Given the description of an element on the screen output the (x, y) to click on. 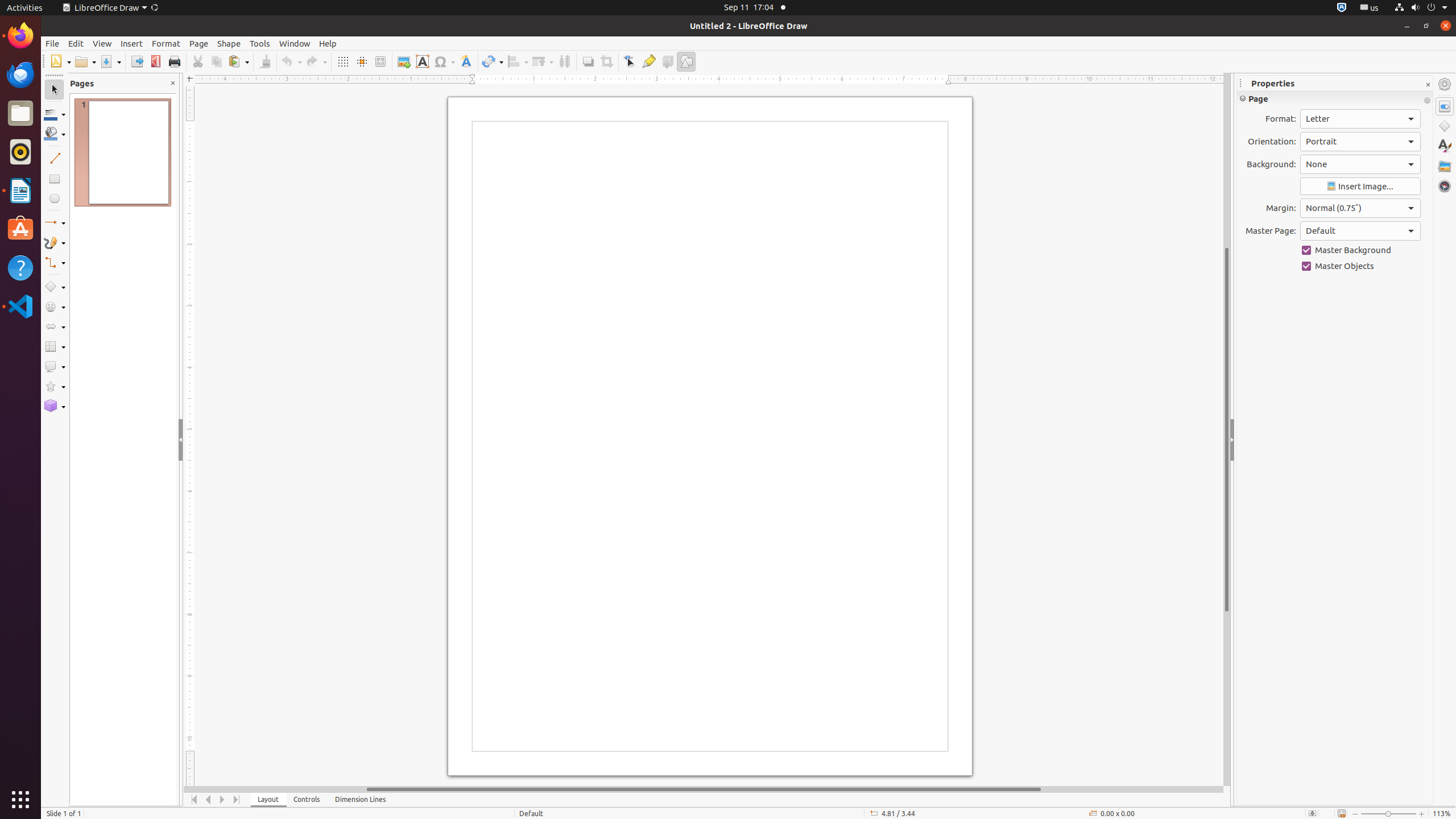
Close Sidebar Deck Element type: push-button (1427, 84)
File Element type: menu (51, 43)
Format: Element type: combo-box (1360, 118)
Move Right Element type: push-button (222, 799)
Controls Element type: page-tab (307, 799)
